Given the description of an element on the screen output the (x, y) to click on. 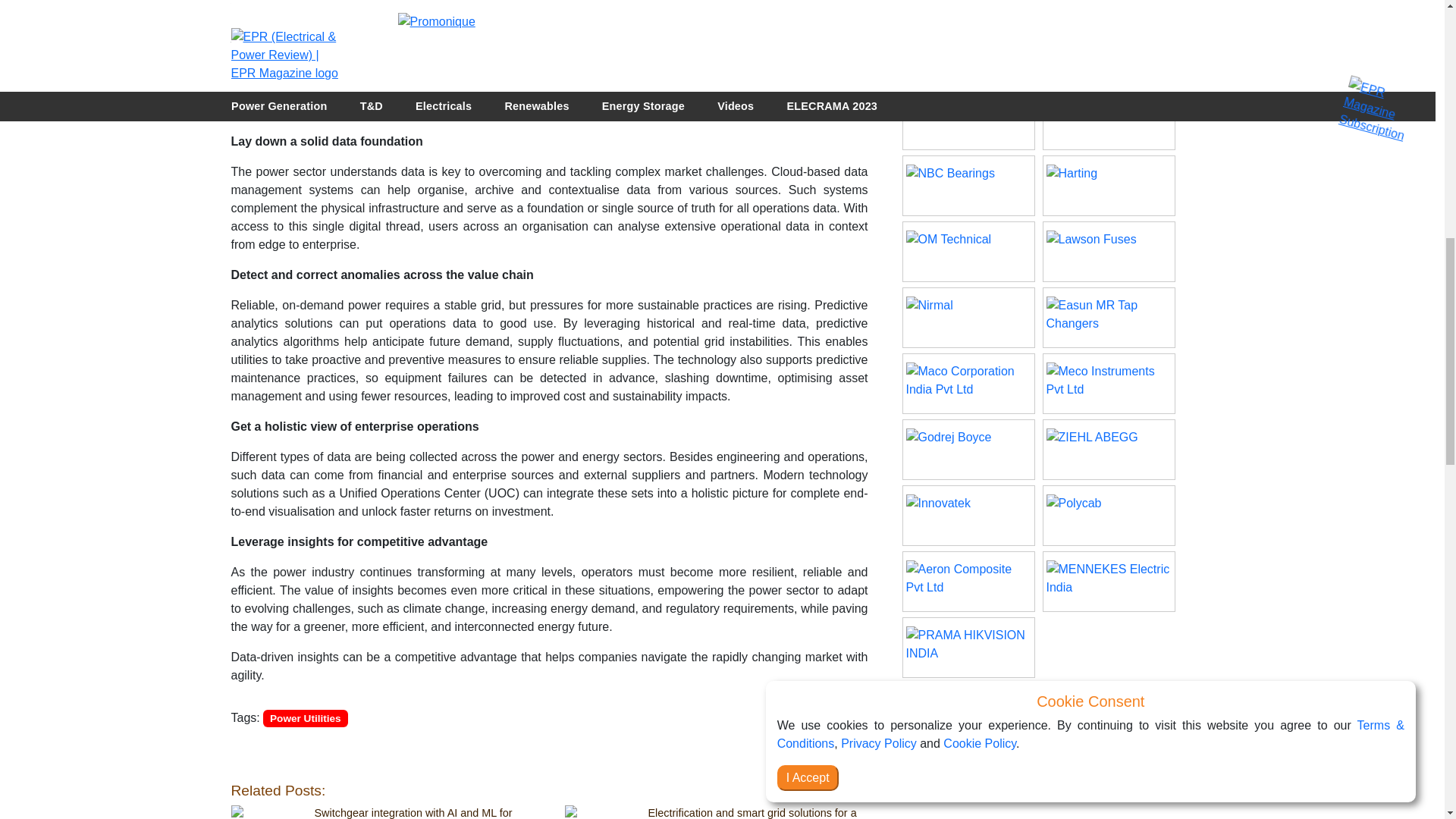
Power Utilities (308, 717)
